Given the description of an element on the screen output the (x, y) to click on. 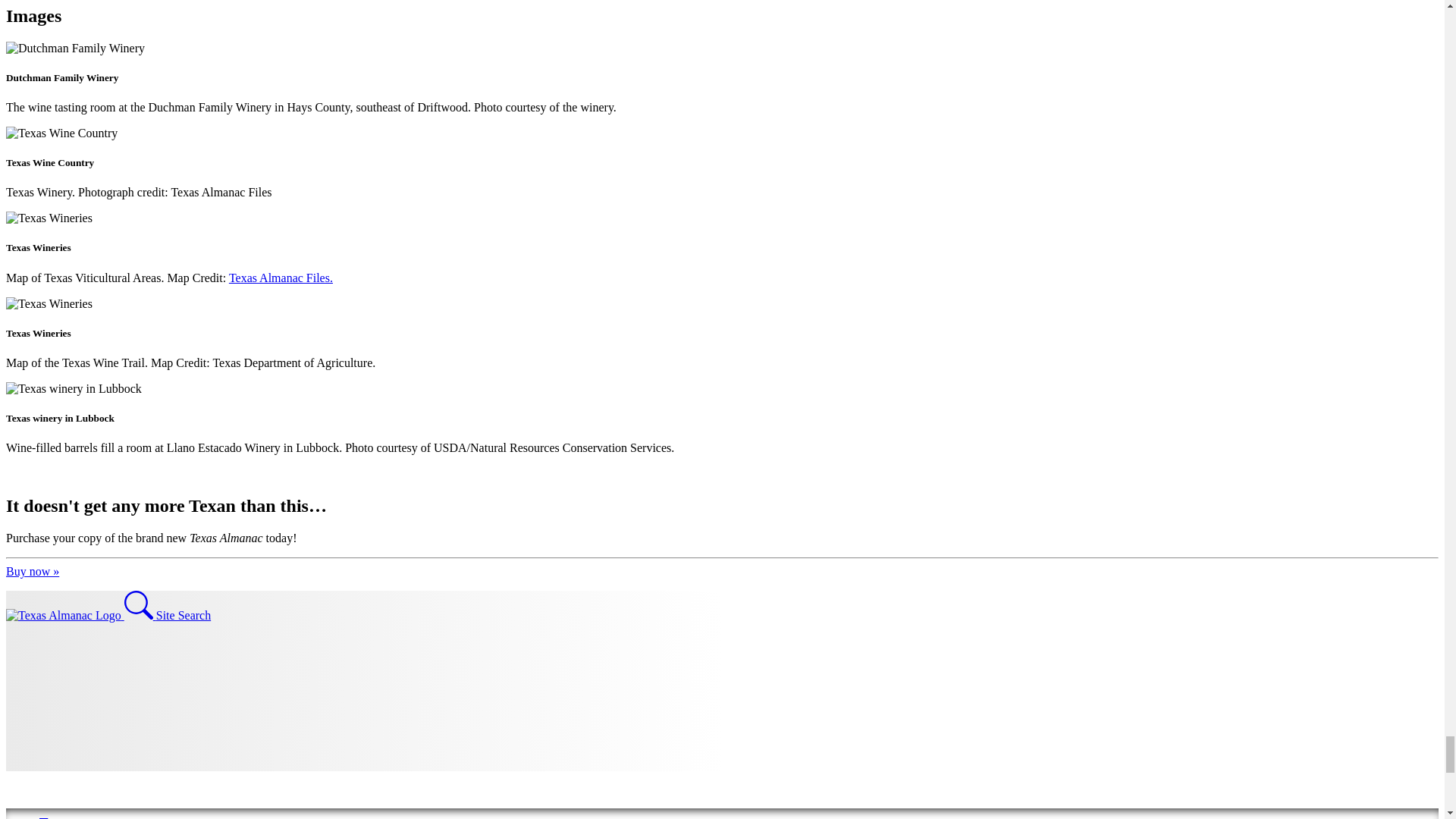
About Us (97, 814)
Texas Wineries (49, 218)
Texas Almanac Files. (280, 277)
Dutchman Family Winery (74, 47)
Texas Almanac Files. (280, 277)
Texas Wine Country (61, 133)
Texas Wineries (49, 304)
Site Search (167, 615)
Texas winery in Lubbock (73, 388)
